Given the description of an element on the screen output the (x, y) to click on. 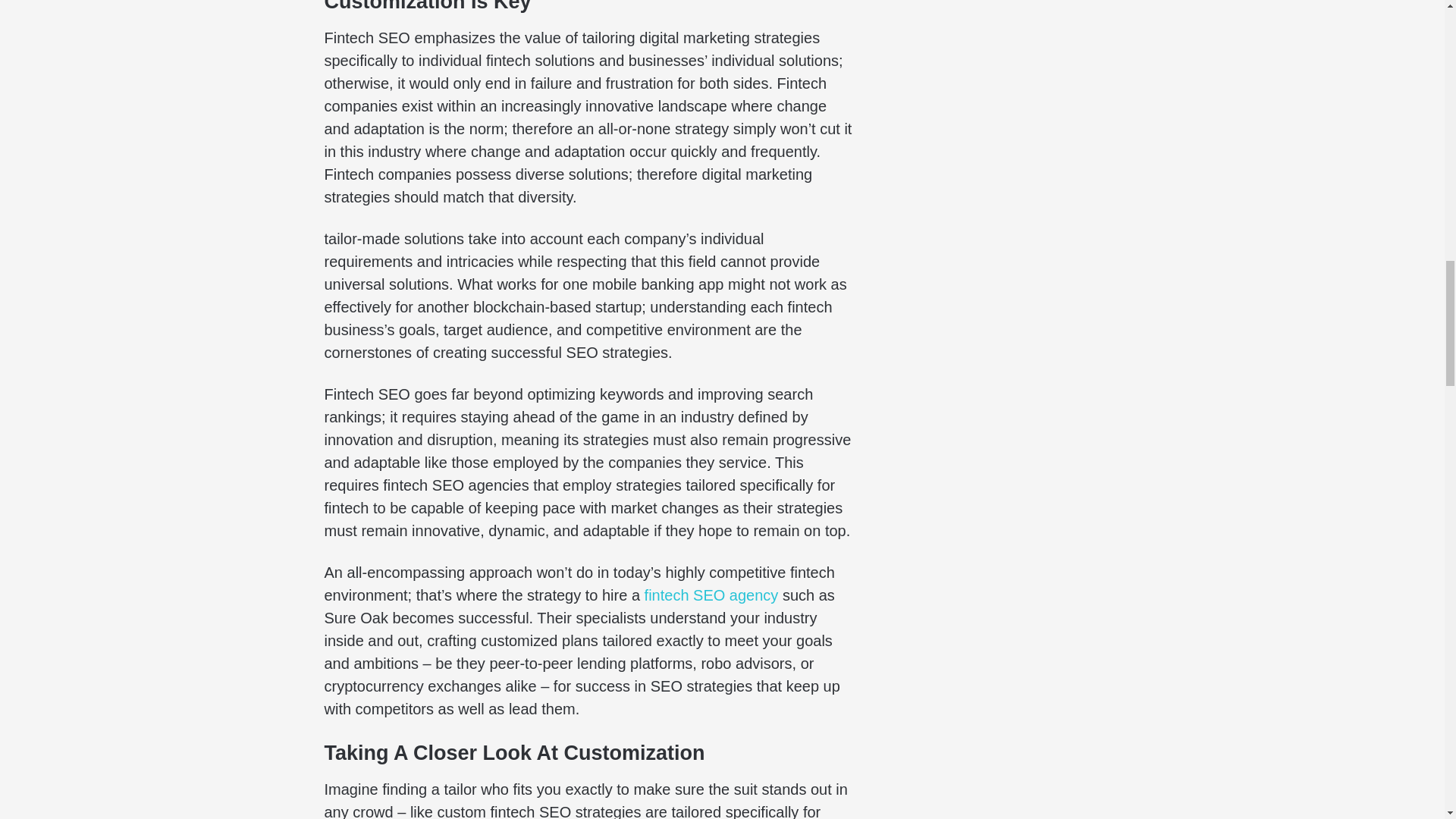
fintech SEO agency (711, 595)
